Given the description of an element on the screen output the (x, y) to click on. 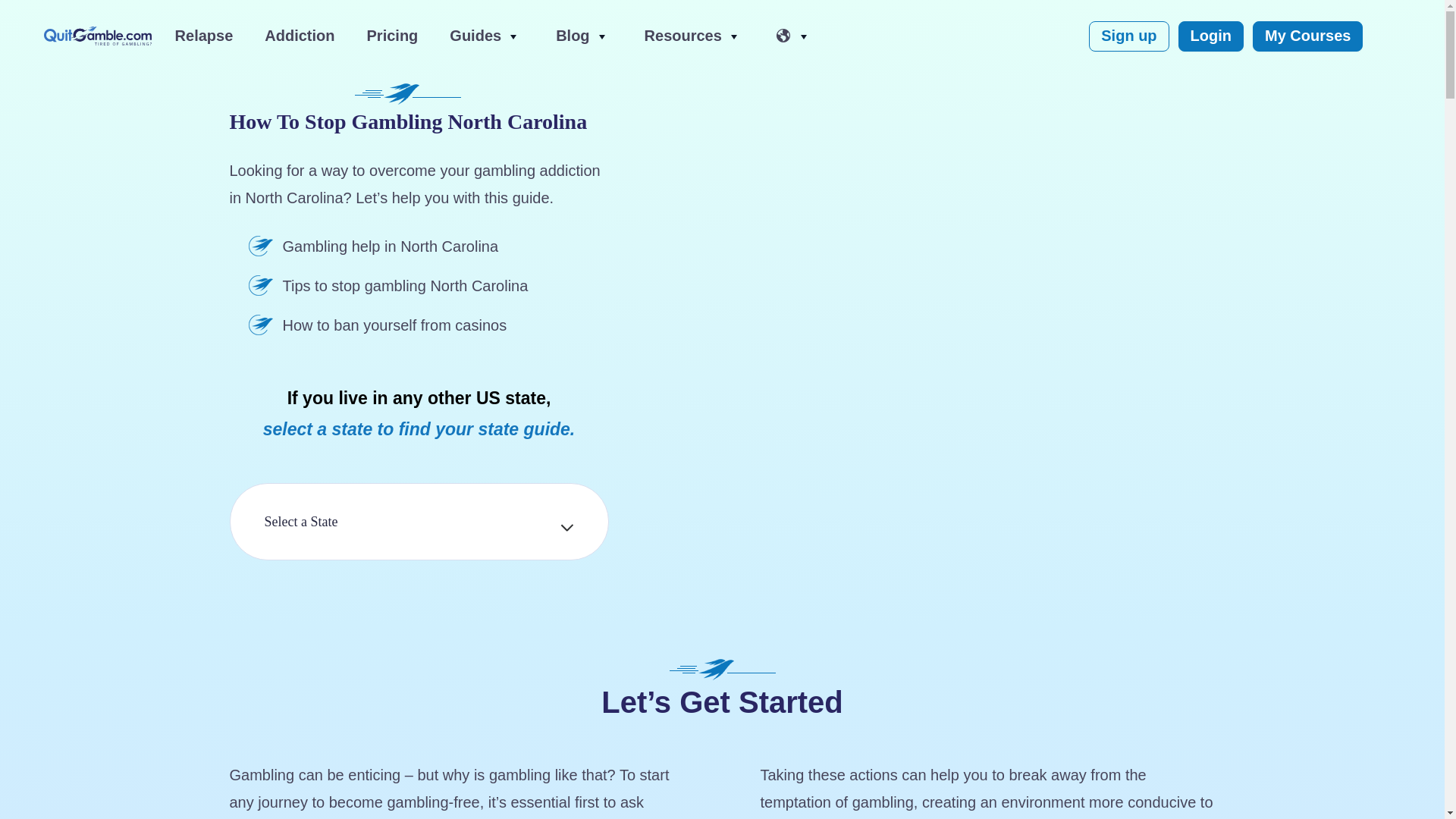
Addiction (299, 35)
Pricing (392, 35)
Resources (679, 35)
Guides (471, 35)
Relapse (203, 35)
